Given the description of an element on the screen output the (x, y) to click on. 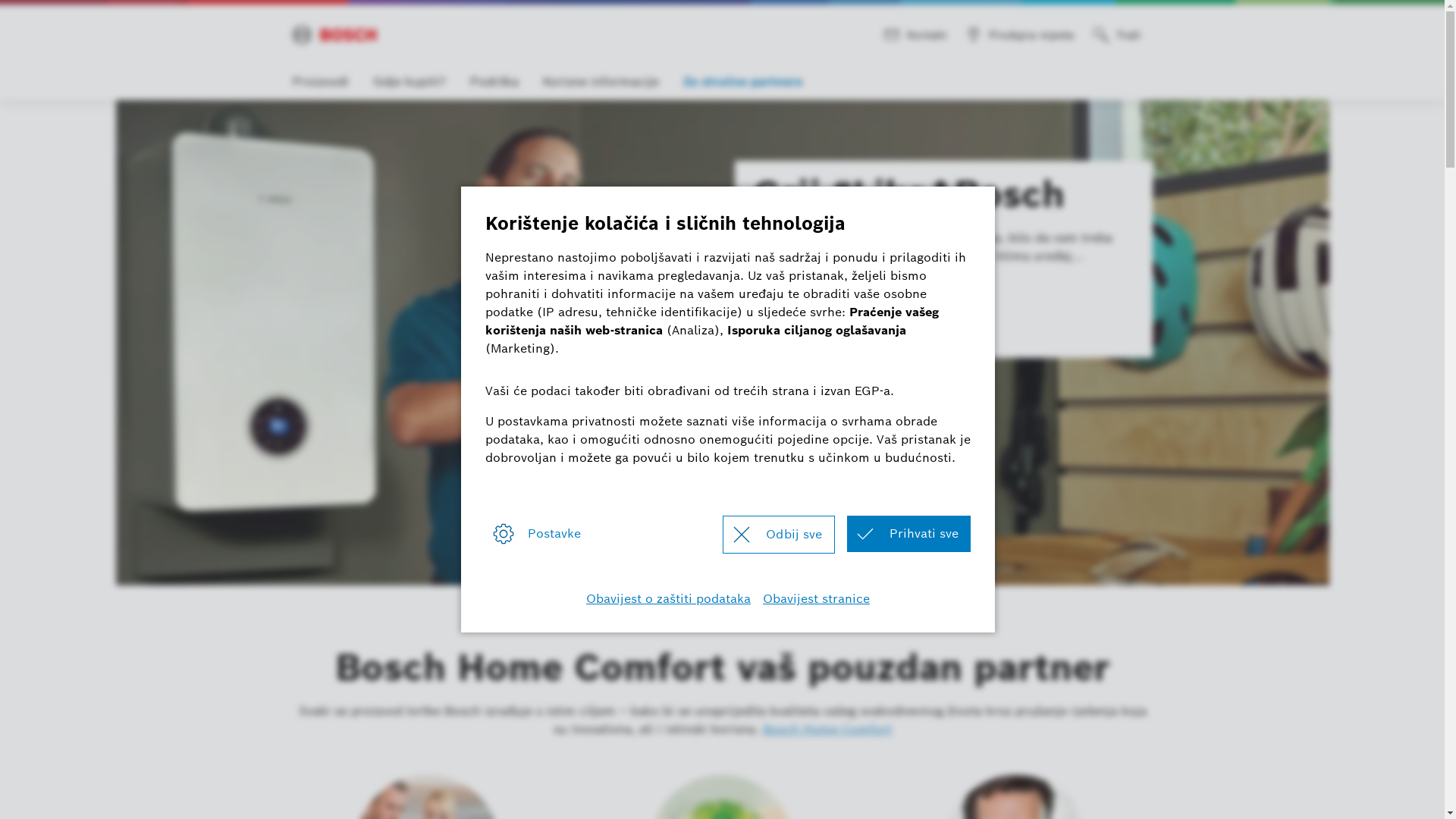
Akcija jesen Grij #likeABosch Element type: hover (721, 342)
Bosch Home Comfort Element type: hover (334, 34)
Proizvodi Element type: text (320, 82)
Korisne informacije Element type: text (600, 82)
Bosch Home Comfort Element type: text (826, 729)
Kontakt Element type: text (917, 34)
Gdje kupiti? Element type: text (409, 82)
Prodajna mjesta Element type: text (1021, 34)
